Given the description of an element on the screen output the (x, y) to click on. 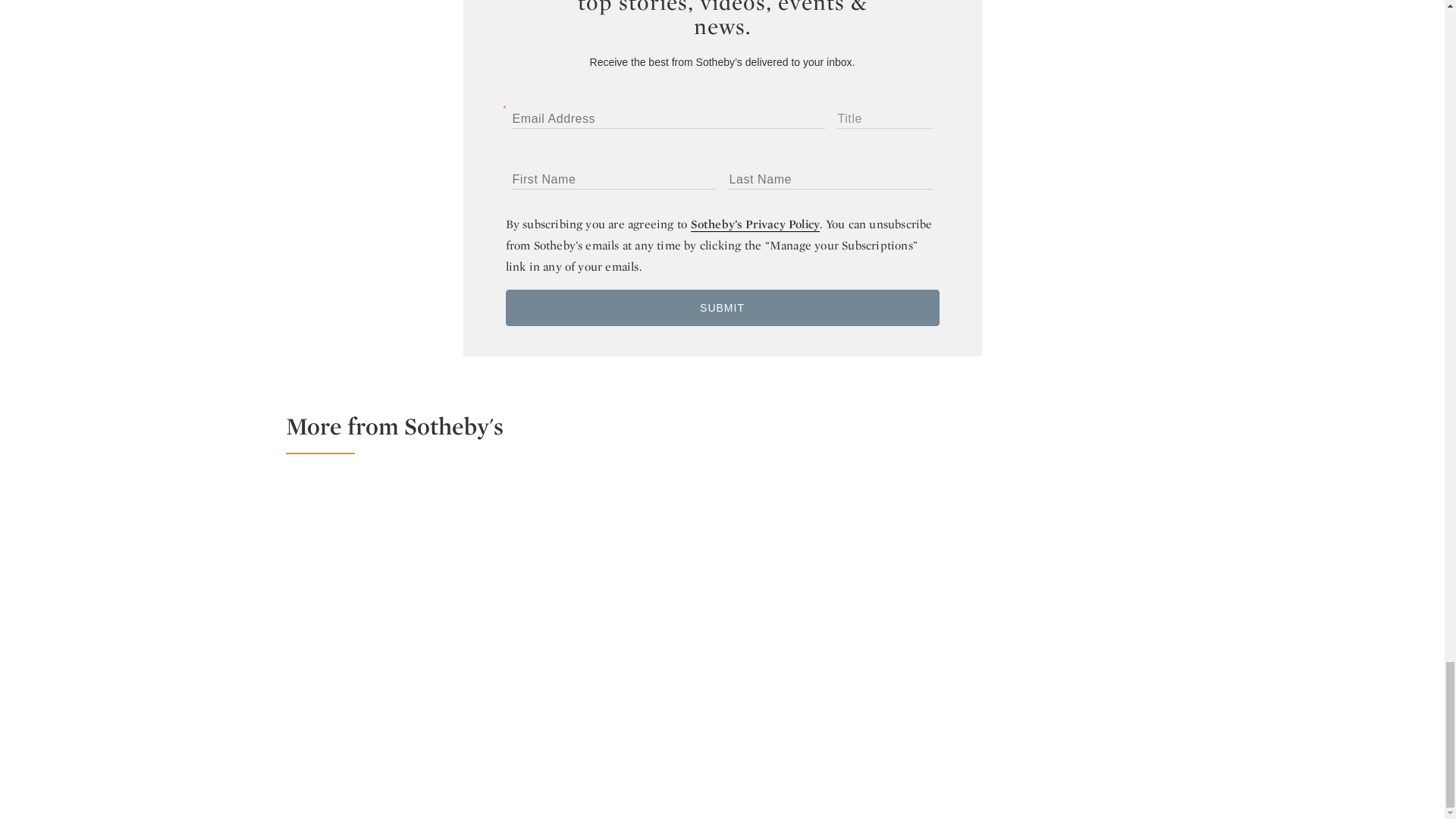
SUBMIT (722, 307)
